Given the description of an element on the screen output the (x, y) to click on. 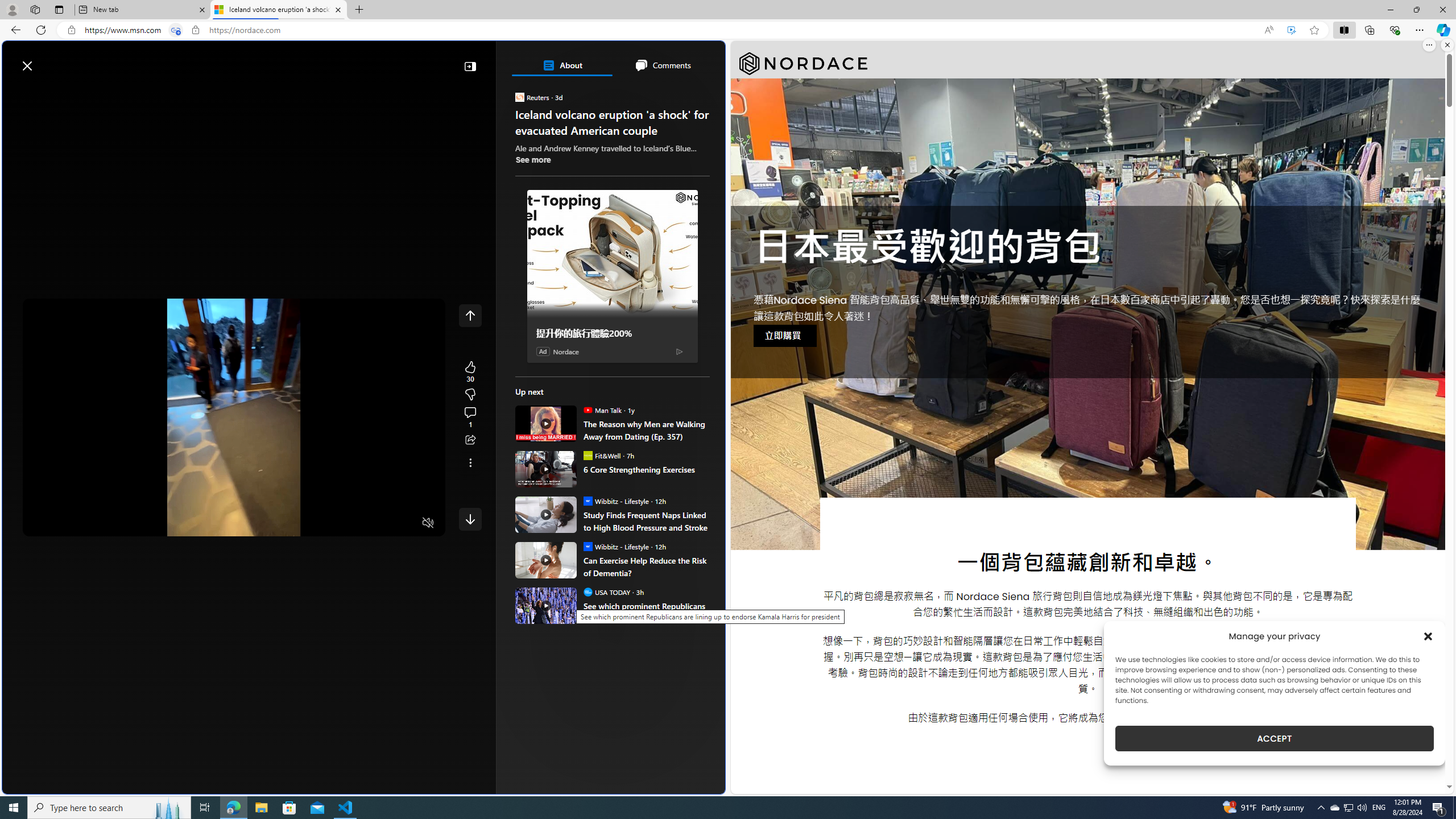
ABC News (554, 415)
Fit&Well Fit&Well (601, 455)
Class: button-glyph (16, 92)
Microsoft rewards (654, 60)
Reuters (519, 96)
Skip to footer (46, 59)
Class: control (469, 518)
Wibbitz - Lifestyle Wibbitz - Lifestyle (615, 546)
